Given the description of an element on the screen output the (x, y) to click on. 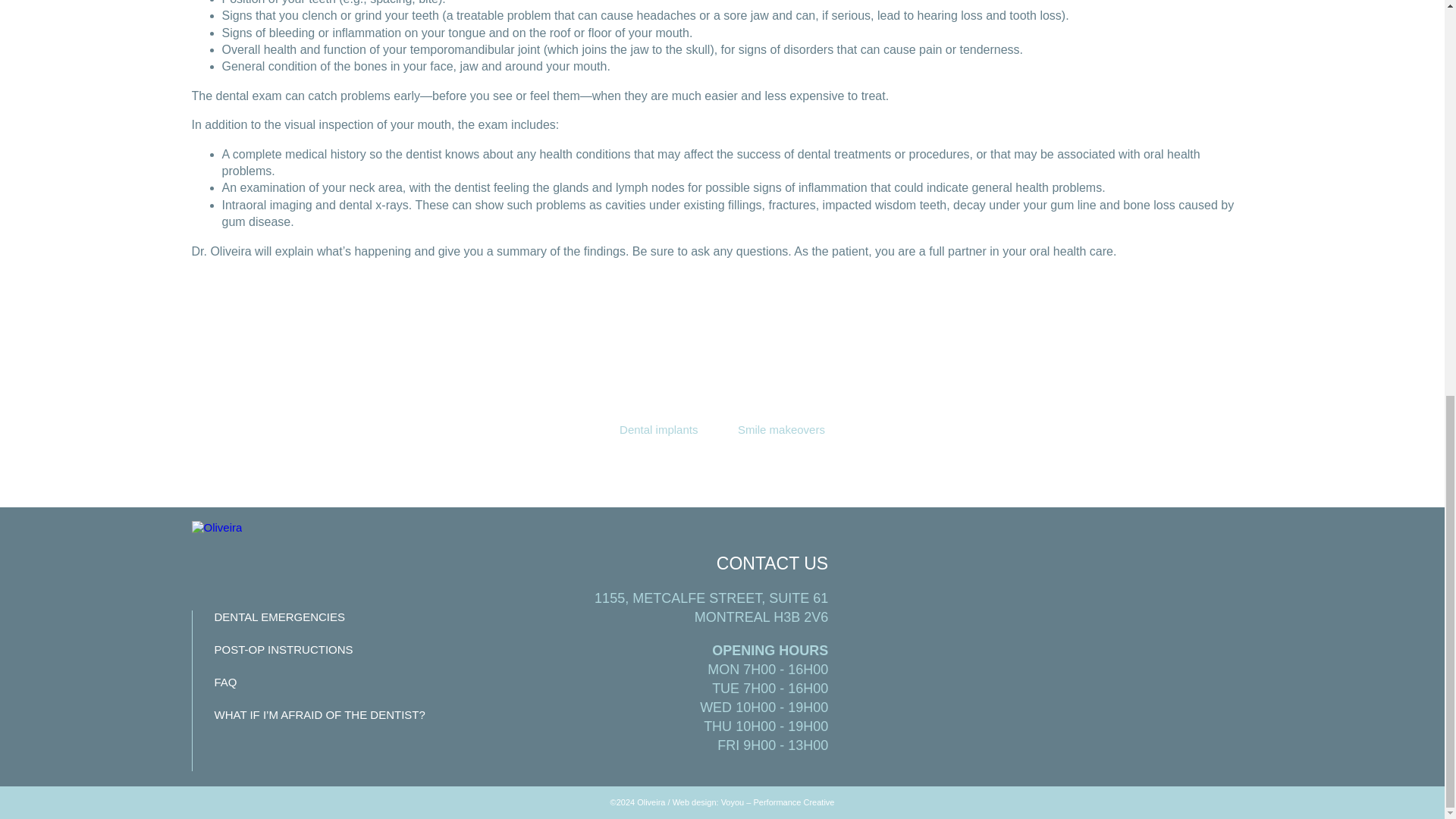
Dental implants (657, 429)
Oliveira (215, 526)
CONTACT US (772, 563)
Smile makeovers (781, 429)
DENTAL EMERGENCIES (279, 616)
POST-OP INSTRUCTIONS (283, 649)
FAQ (224, 681)
